Given the description of an element on the screen output the (x, y) to click on. 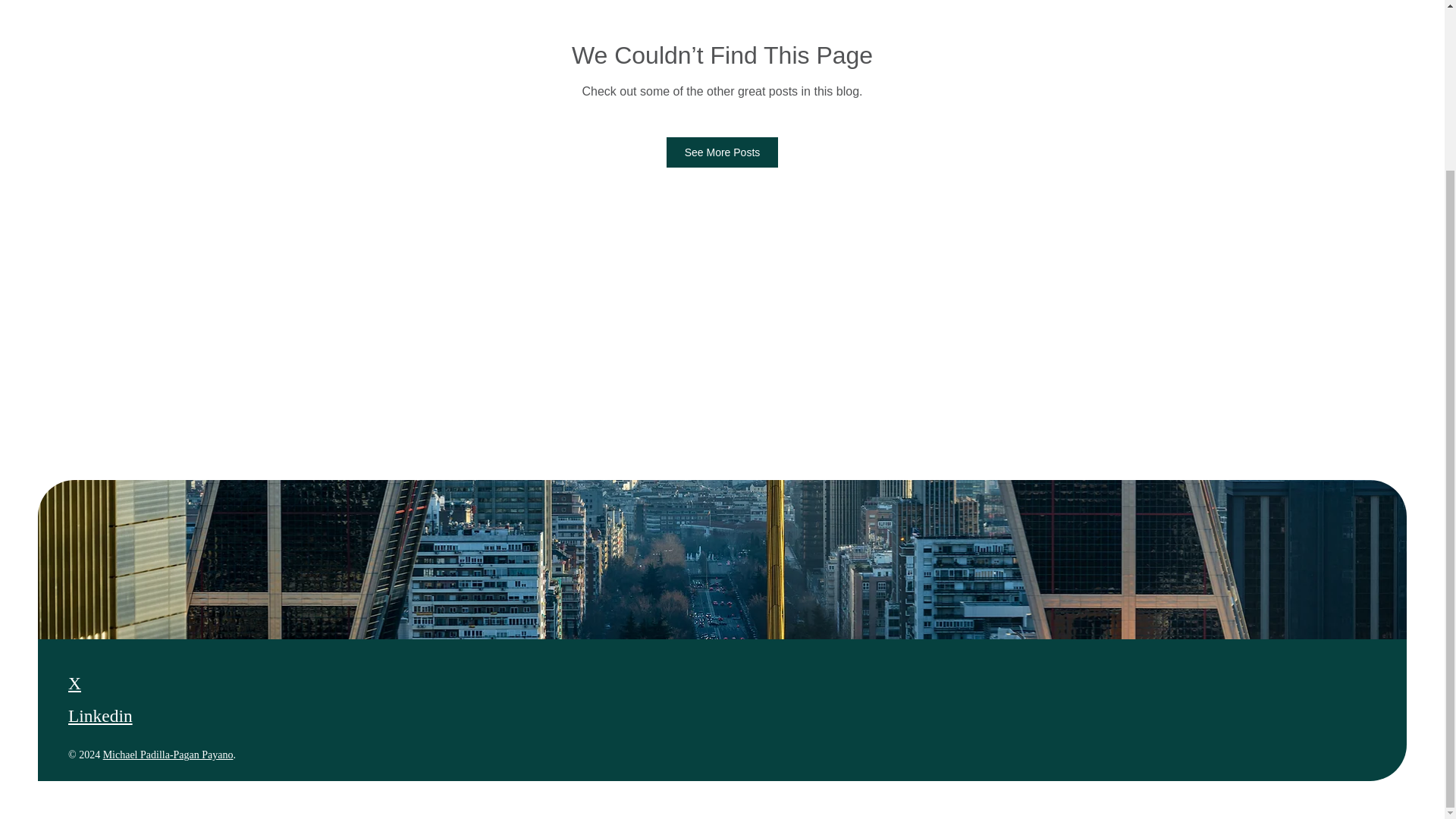
See More Posts (722, 152)
Michael Padilla-Pagan Payano (167, 754)
Linkedin (100, 715)
